Given the description of an element on the screen output the (x, y) to click on. 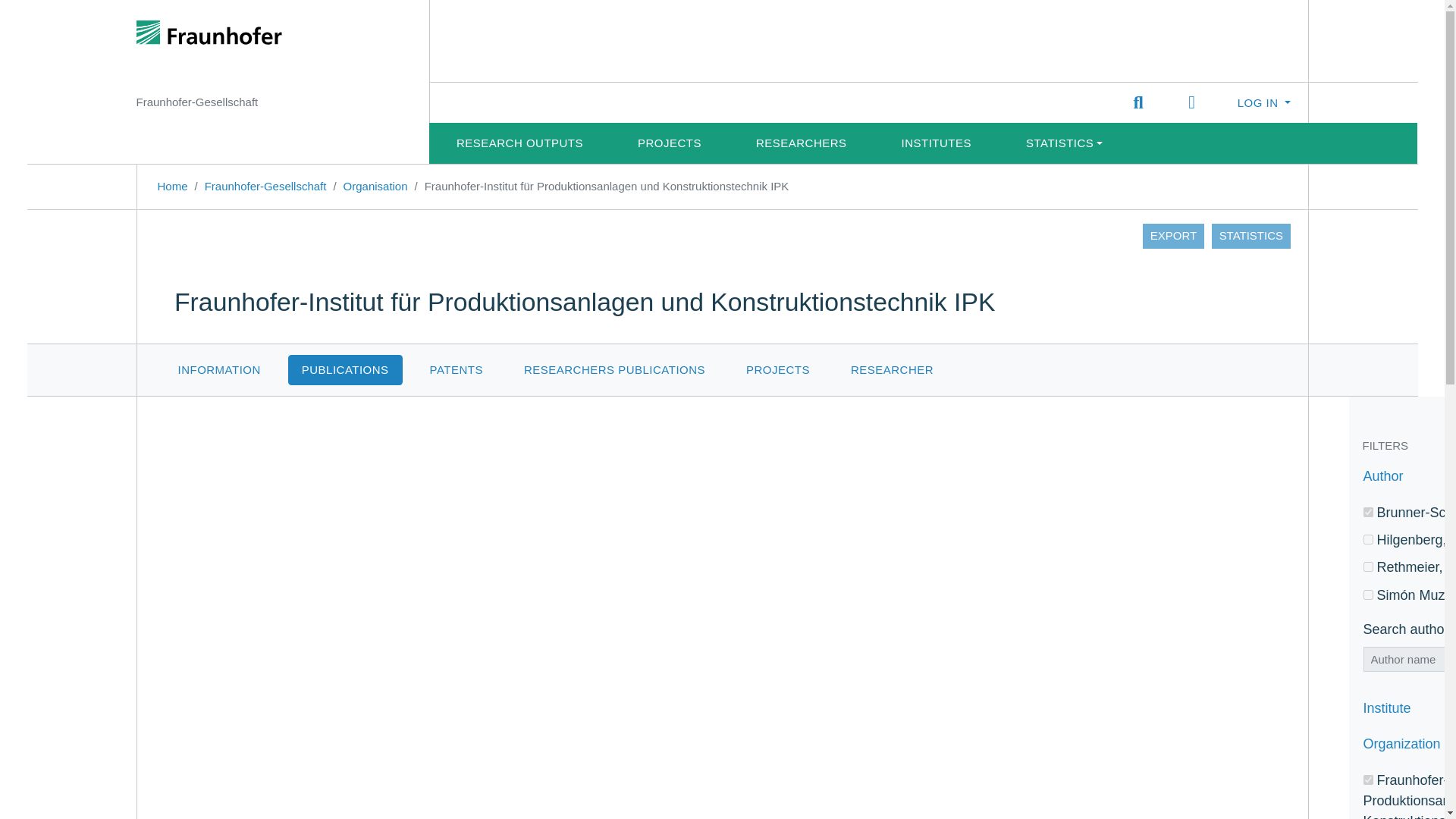
Author (1409, 478)
on (1367, 779)
Publications (345, 369)
PROJECTS (778, 369)
PATENTS (456, 369)
Fraunhofer-Gesellschaft (265, 185)
on (1367, 566)
INSTITUTES (936, 142)
EXPORT (1173, 235)
Researchers (802, 142)
